Given the description of an element on the screen output the (x, y) to click on. 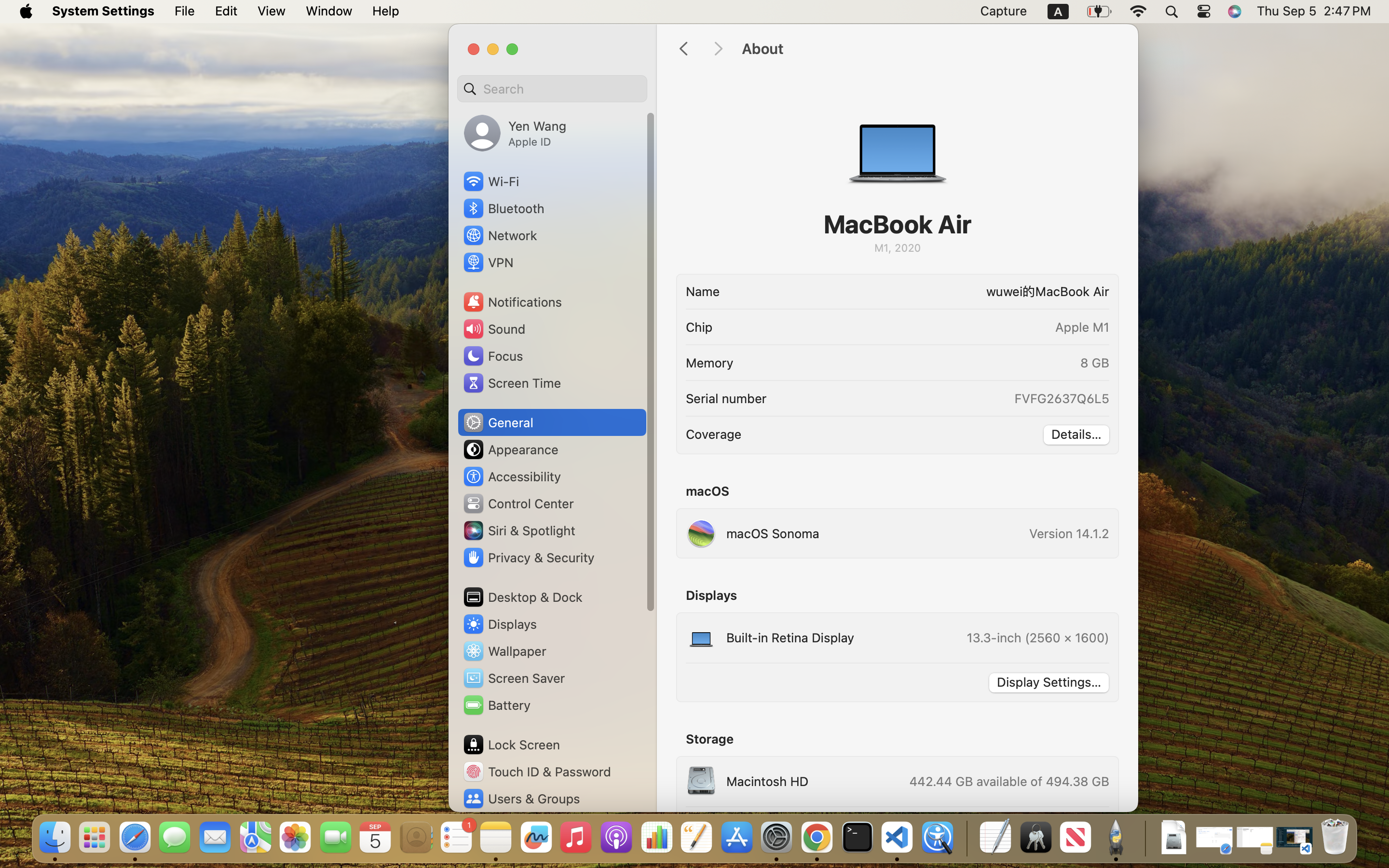
Yen Wang, Apple ID Element type: AXStaticText (514, 132)
Serial number Element type: AXStaticText (725, 398)
Macintosh HD Element type: AXStaticText (746, 780)
Notifications Element type: AXStaticText (512, 301)
FVFG2637Q6L5 Element type: AXStaticText (1060, 398)
